Given the description of an element on the screen output the (x, y) to click on. 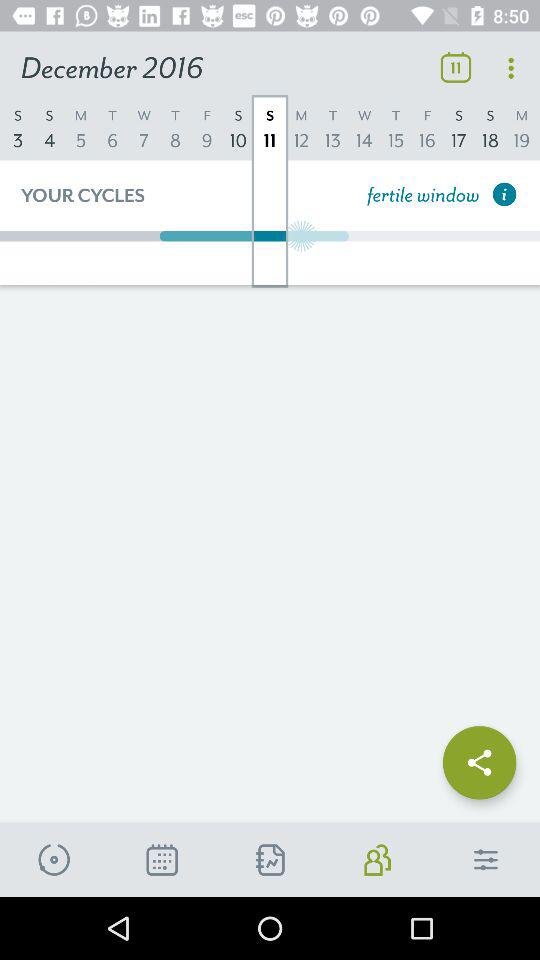
share the page (479, 756)
